Given the description of an element on the screen output the (x, y) to click on. 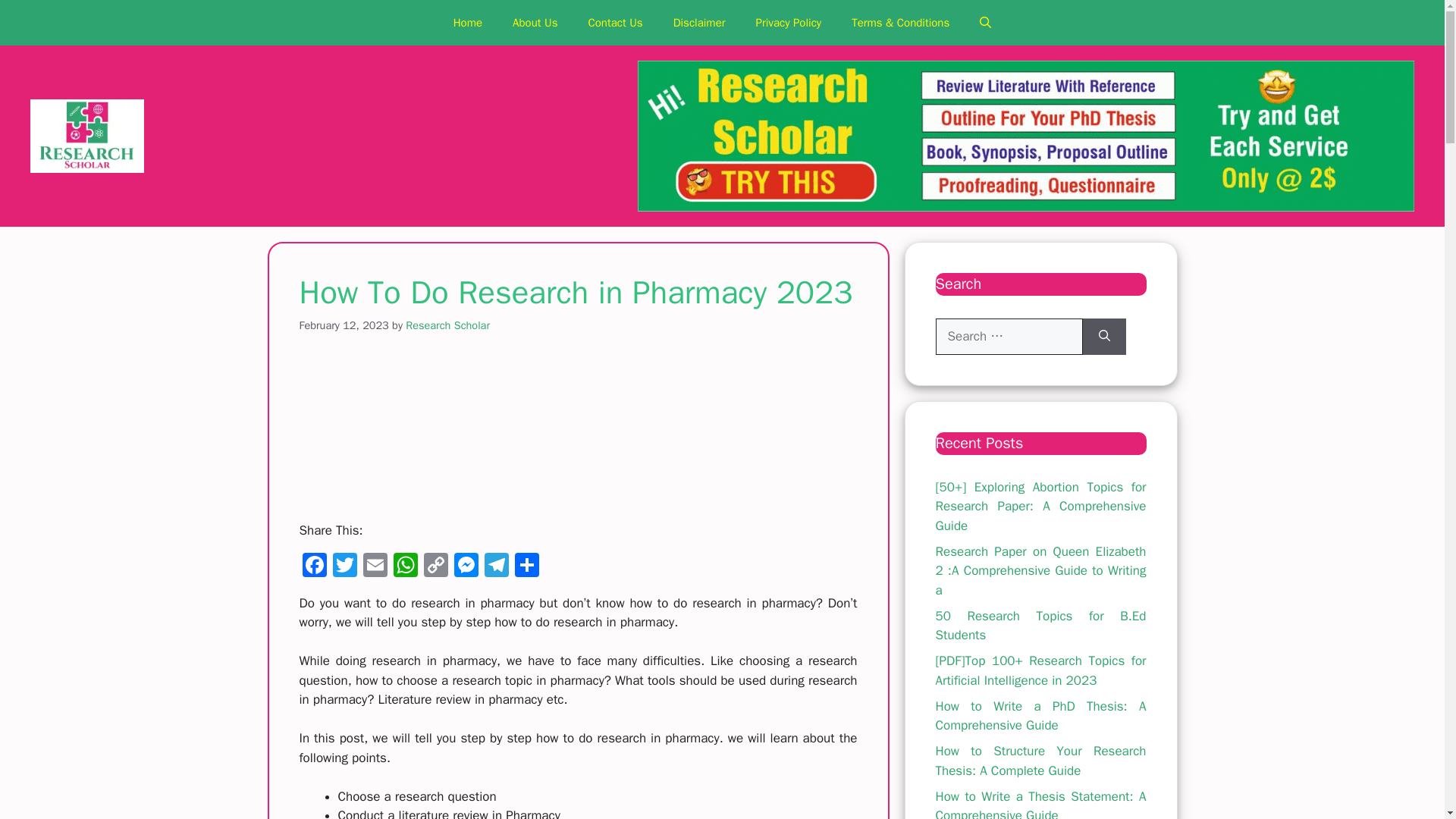
Messenger (464, 566)
Home (467, 22)
About Us (534, 22)
Facebook (313, 566)
Email (374, 566)
Messenger (464, 566)
Privacy Policy (789, 22)
View all posts by Research Scholar (447, 325)
Disclaimer (699, 22)
Twitter (344, 566)
Telegram (495, 566)
Research Scholar (447, 325)
Email (374, 566)
WhatsApp (405, 566)
Copy Link (434, 566)
